Given the description of an element on the screen output the (x, y) to click on. 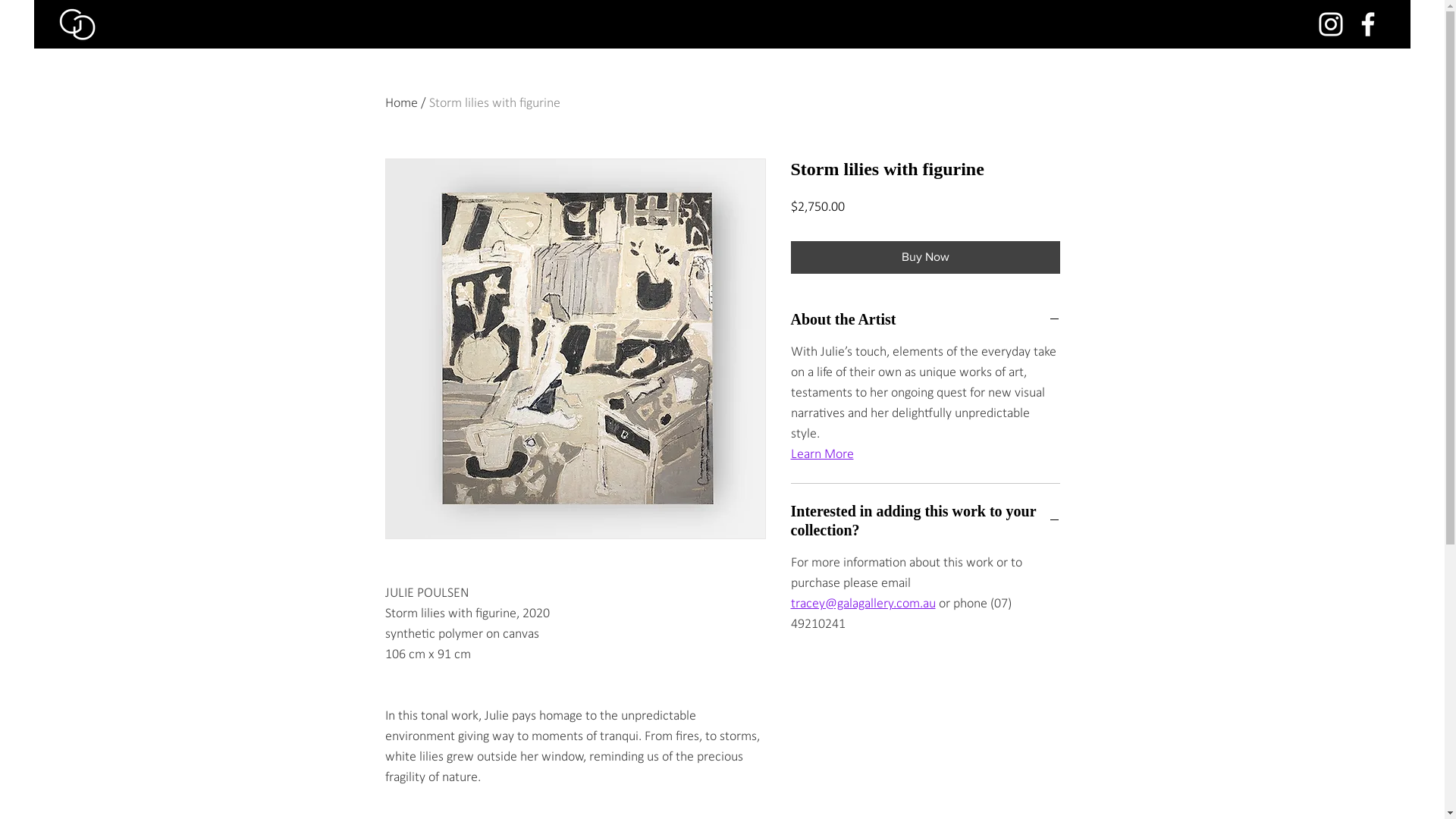
Home Element type: text (401, 103)
Storm lilies with figurine Element type: text (494, 103)
Buy Now Element type: text (924, 257)
About the Artist Element type: text (924, 319)
Learn More Element type: text (821, 454)
tracey@galagallery.com.au Element type: text (862, 603)
Interested in adding this work to your collection? Element type: text (924, 520)
